Given the description of an element on the screen output the (x, y) to click on. 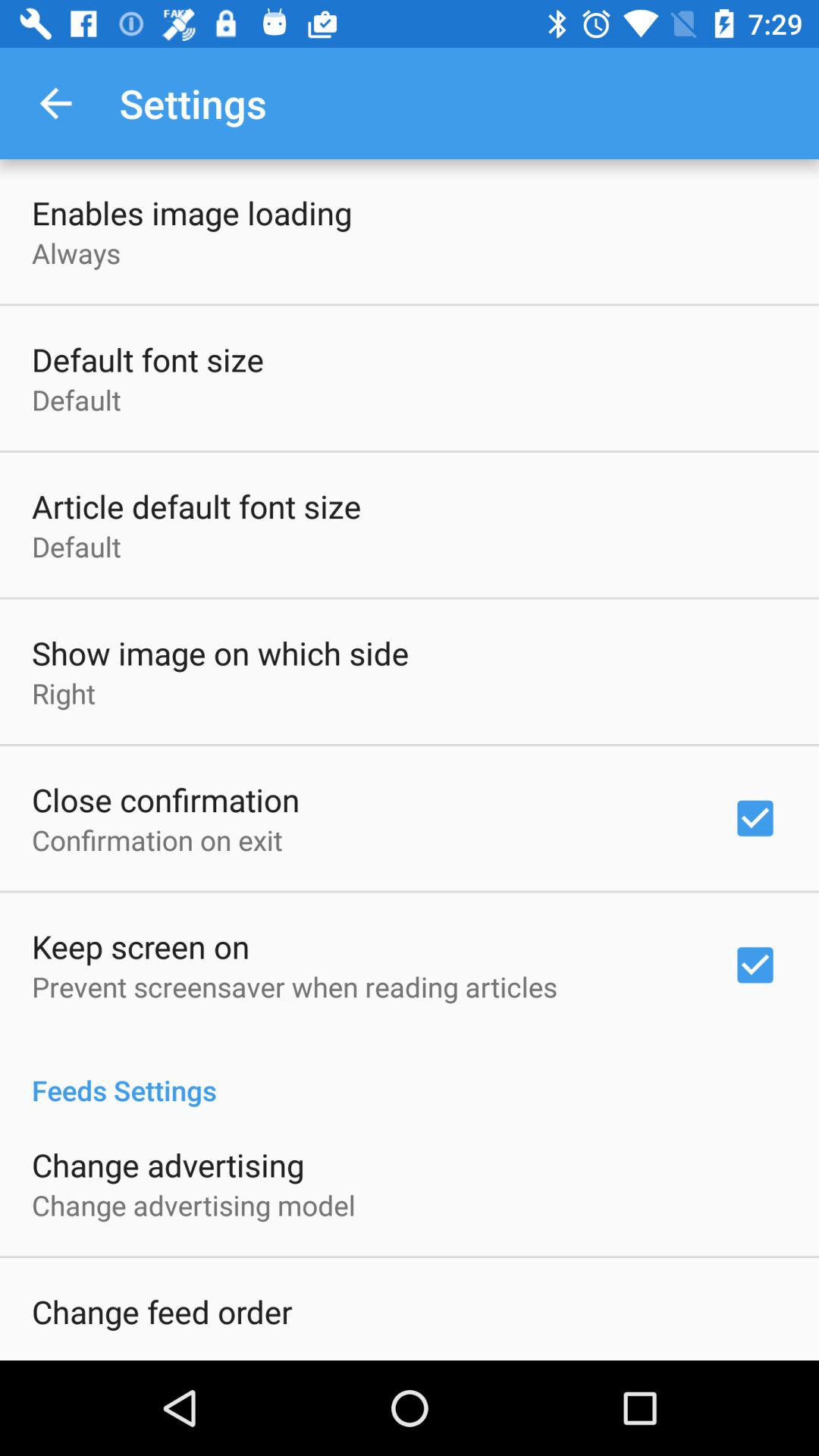
open the item below the right icon (165, 799)
